Given the description of an element on the screen output the (x, y) to click on. 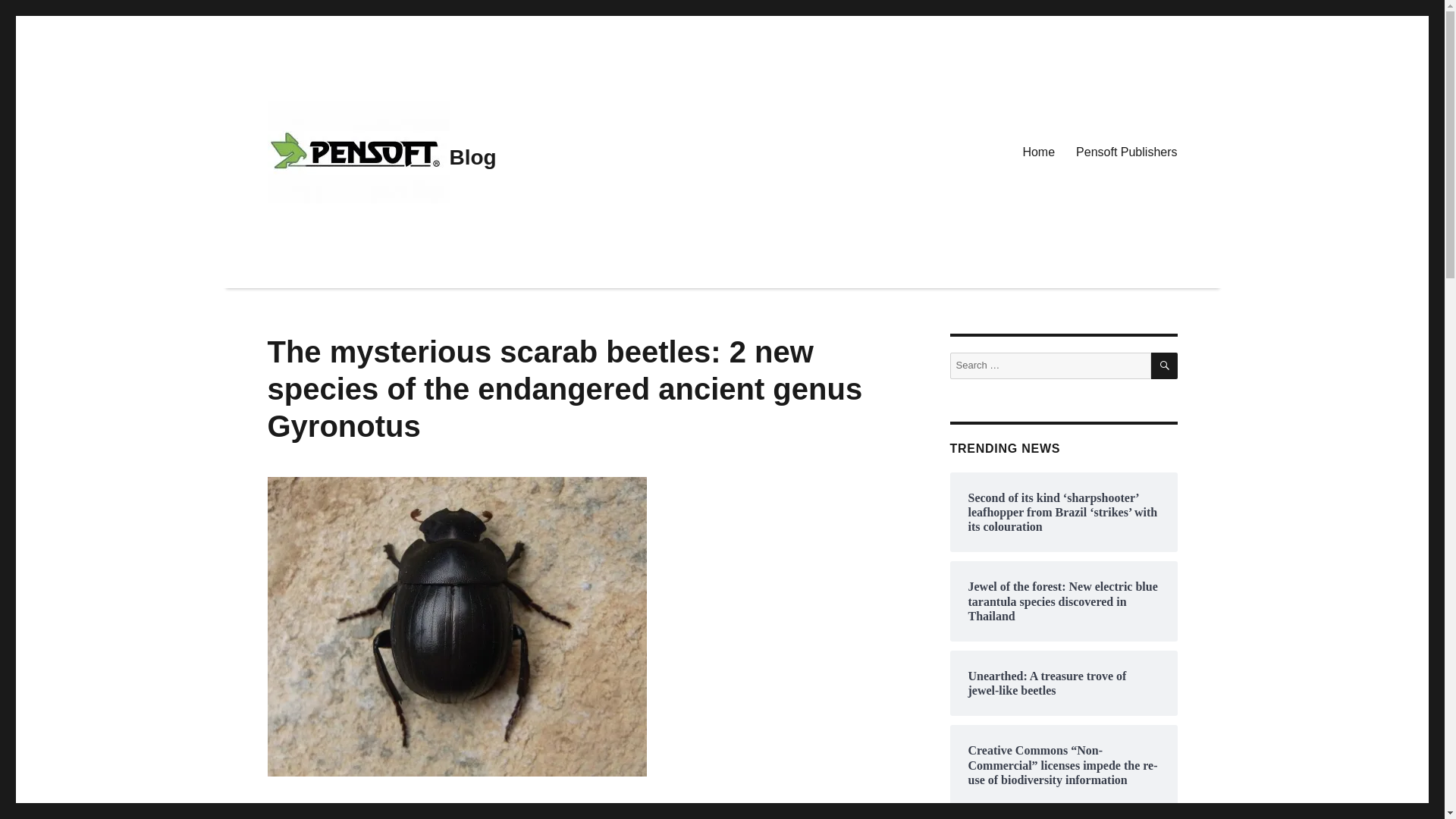
Blog (472, 156)
Pensoft Publishers (1126, 152)
SEARCH (1164, 365)
Unearthed: A treasure trove of jewel-like beetles (1063, 683)
October 22, 2013 (304, 815)
Home (1038, 152)
